Given the description of an element on the screen output the (x, y) to click on. 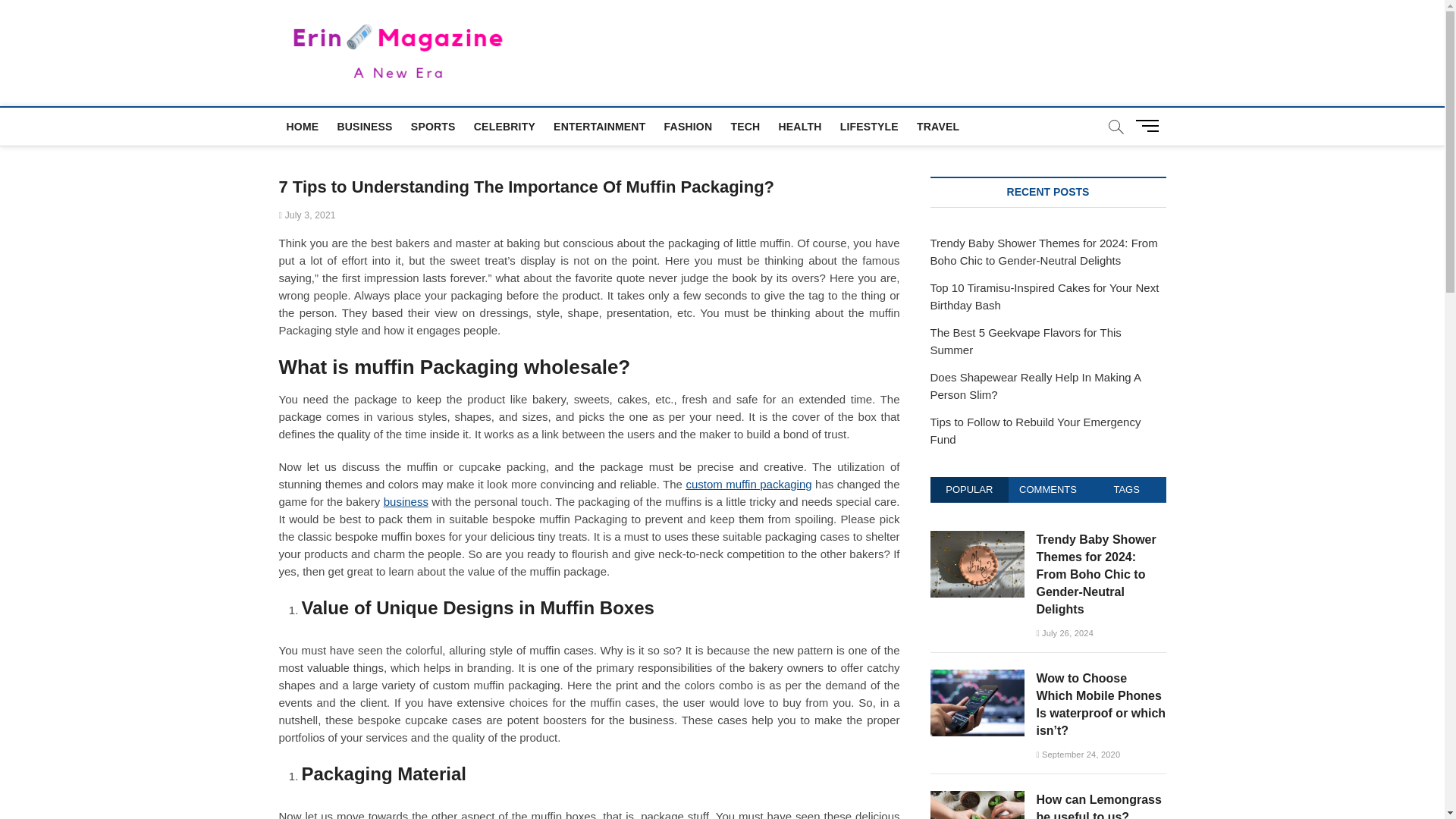
July 26, 2024 (1064, 633)
ENTERTAINMENT (599, 126)
TRAVEL (937, 126)
TECH (744, 126)
September 24, 2020 (1077, 754)
custom muffin packaging (747, 483)
FASHION (688, 126)
Tips to Follow to Rebuild Your Emergency Fund (1035, 430)
Does Shapewear Really Help In Making A Person Slim? (1035, 386)
Erin Magazine (597, 50)
